Given the description of an element on the screen output the (x, y) to click on. 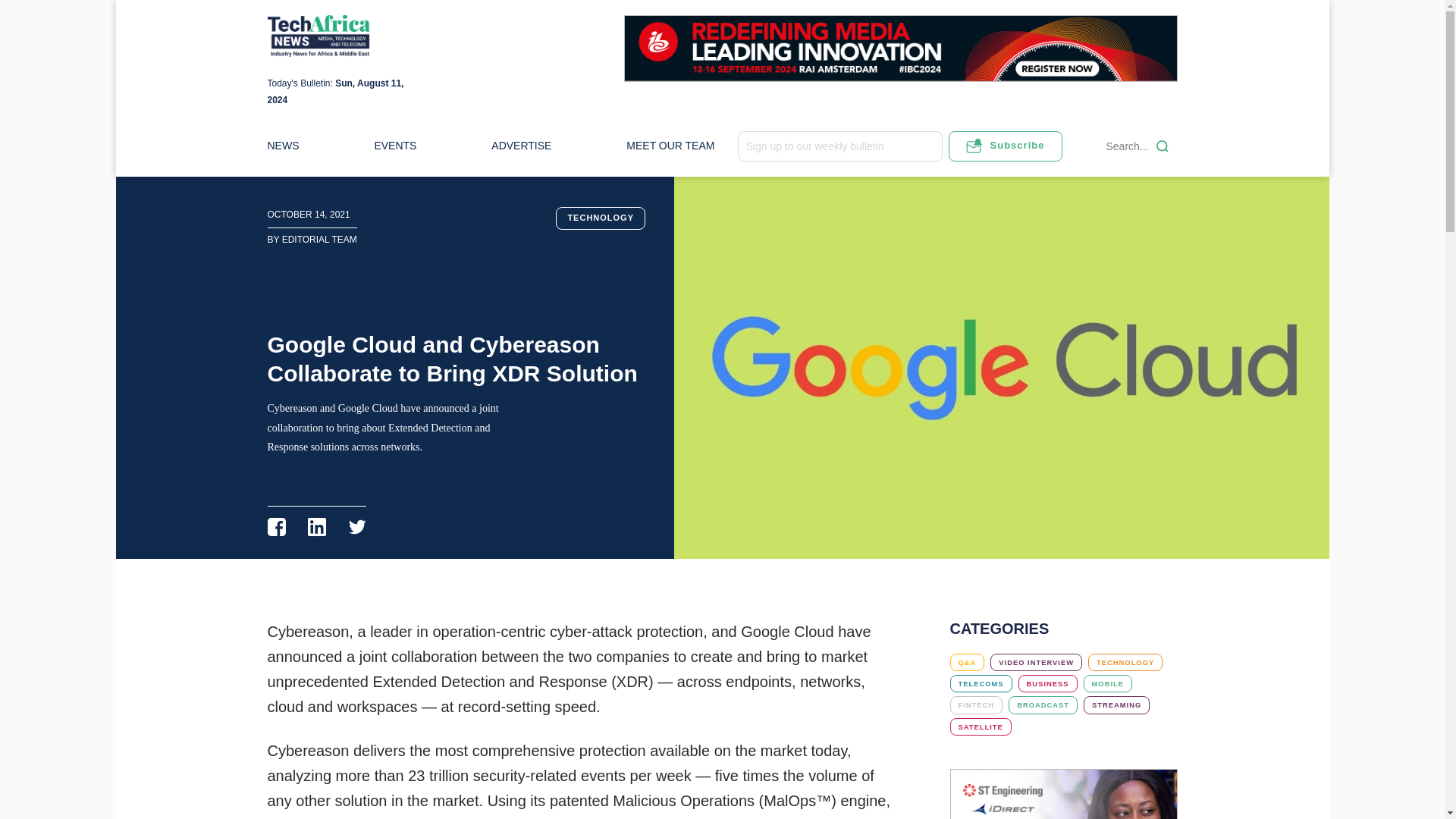
FINTECH (976, 704)
STREAMING (1116, 704)
MEET OUR TEAM (670, 146)
Search (1162, 145)
BROADCAST (1043, 704)
Subscribe (1004, 146)
Search (1162, 145)
TECHNOLOGY (1124, 661)
ADVERTISE (521, 146)
MOBILE (1107, 683)
